Given the description of an element on the screen output the (x, y) to click on. 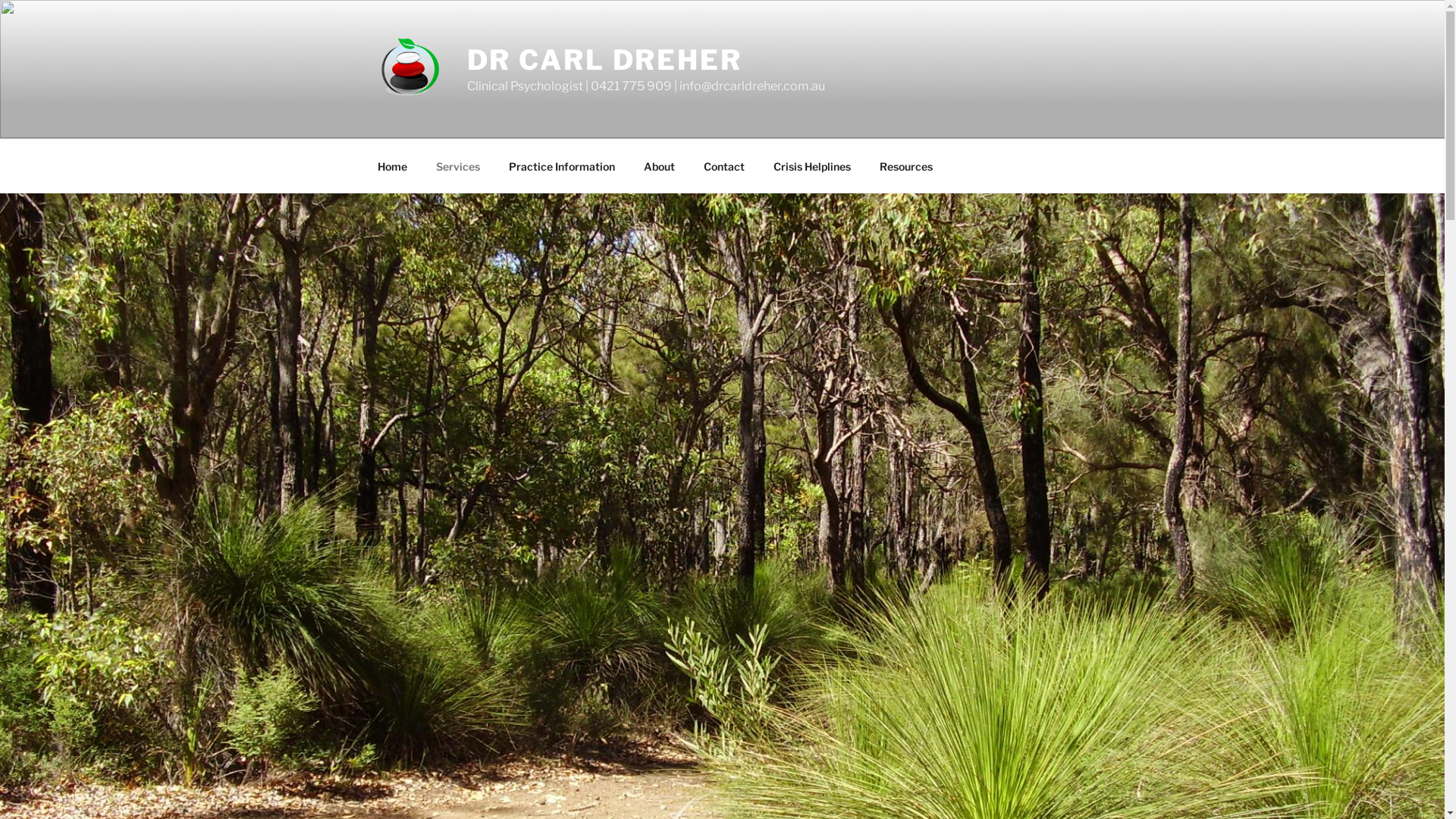
Resources Element type: text (905, 165)
Crisis Helplines Element type: text (811, 165)
Practice Information Element type: text (561, 165)
Services Element type: text (458, 165)
Contact Element type: text (723, 165)
Home Element type: text (392, 165)
DR CARL DREHER Element type: text (604, 59)
About Element type: text (659, 165)
